Given the description of an element on the screen output the (x, y) to click on. 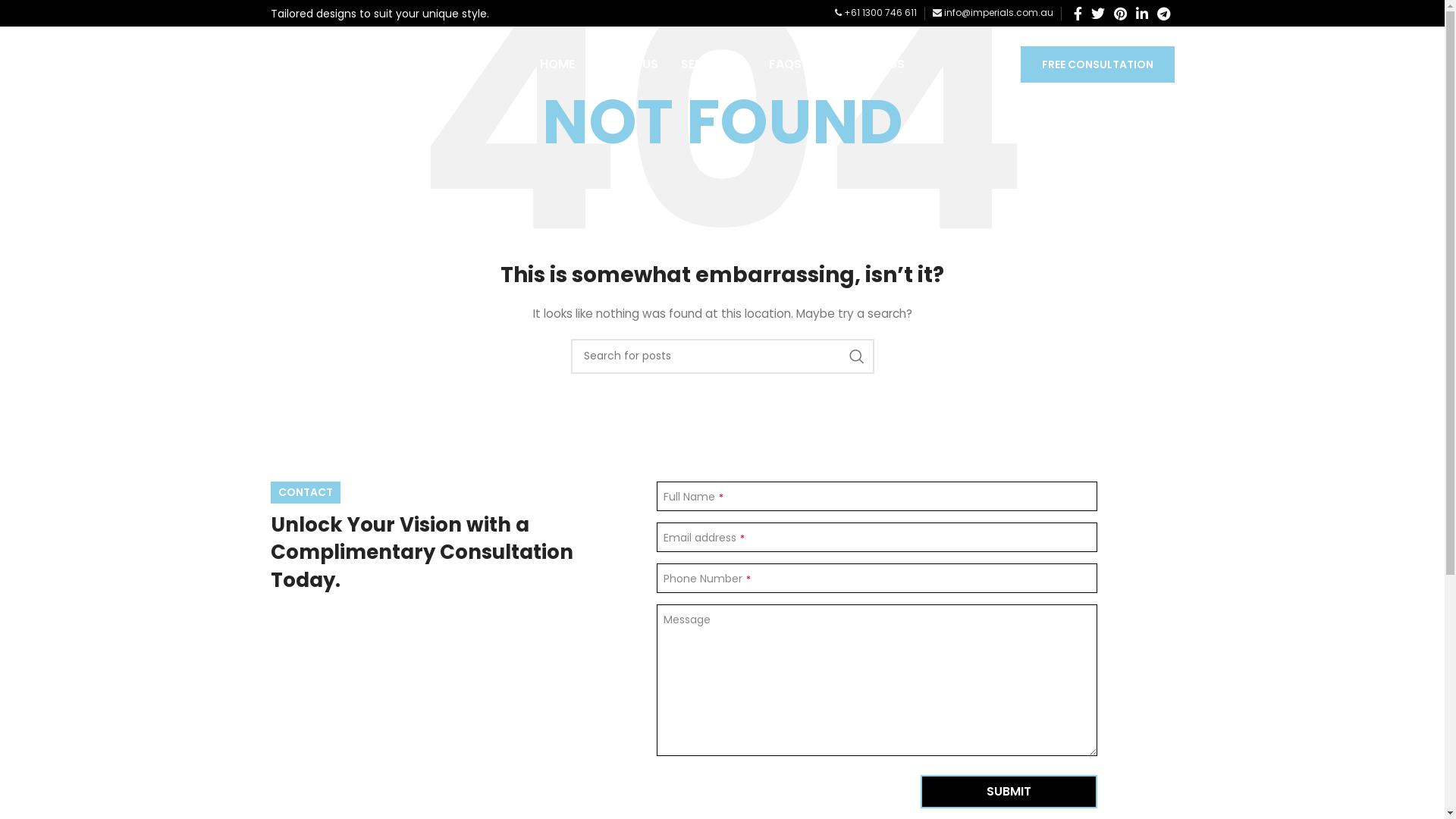
FAQS Element type: text (784, 64)
SEARCH Element type: text (855, 355)
ABOUT US Element type: text (627, 64)
SERVICES Element type: text (713, 64)
Search for posts Element type: hover (721, 355)
CONTACT US Element type: text (864, 64)
FREE CONSULTATION Element type: text (1097, 64)
SUBMIT Element type: text (1008, 791)
info@imperials.com.au Element type: text (992, 12)
HOME Element type: text (556, 64)
+61 1300 746 611 Element type: text (875, 12)
